Given the description of an element on the screen output the (x, y) to click on. 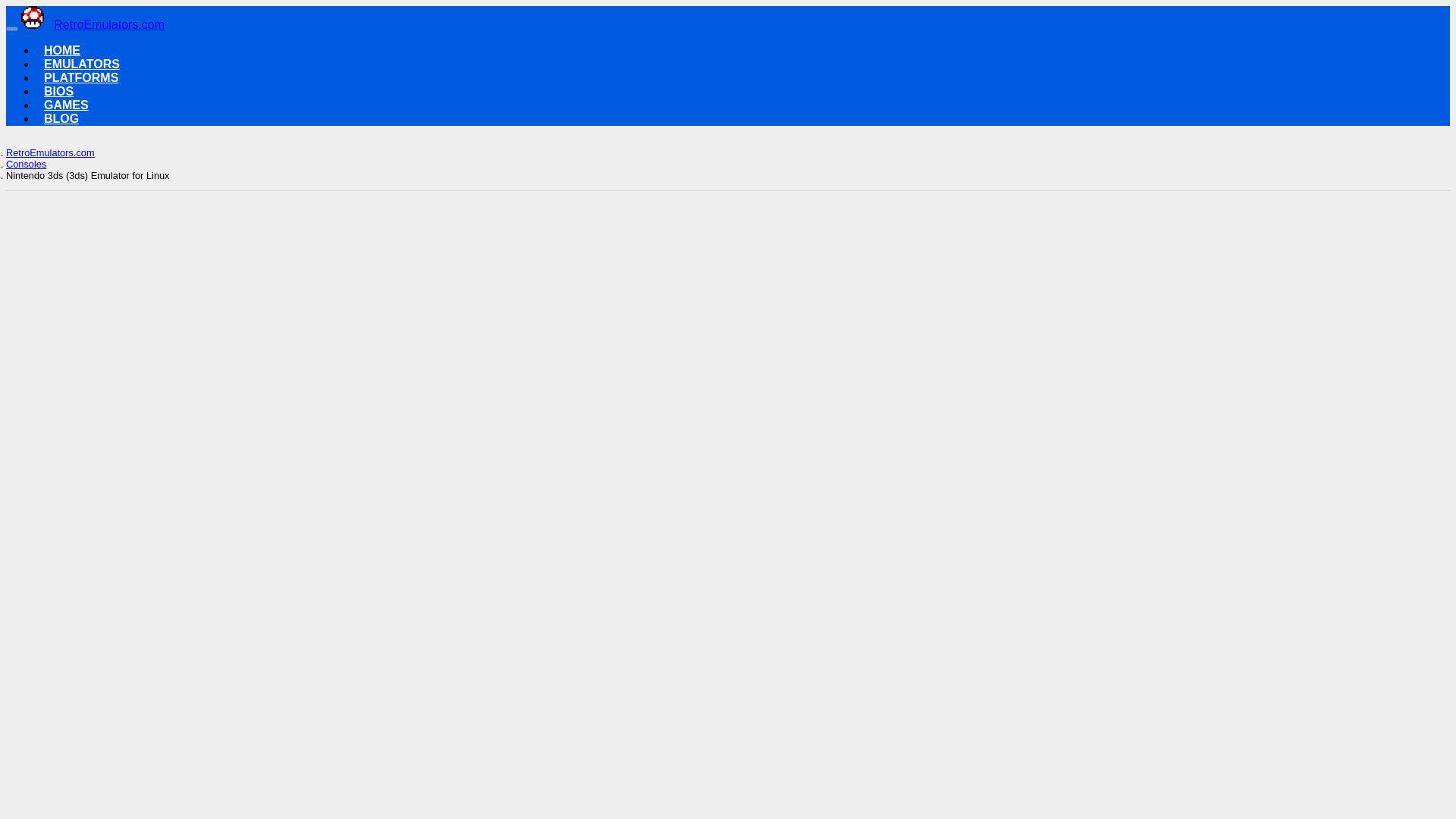
Consoles (25, 163)
HOME (61, 50)
GAMES (65, 104)
BIOS (58, 91)
RetroEmulators.com (49, 152)
PLATFORMS (80, 77)
BLOG (60, 118)
RetroEmulators.com (92, 24)
EMULATORS (81, 63)
